Given the description of an element on the screen output the (x, y) to click on. 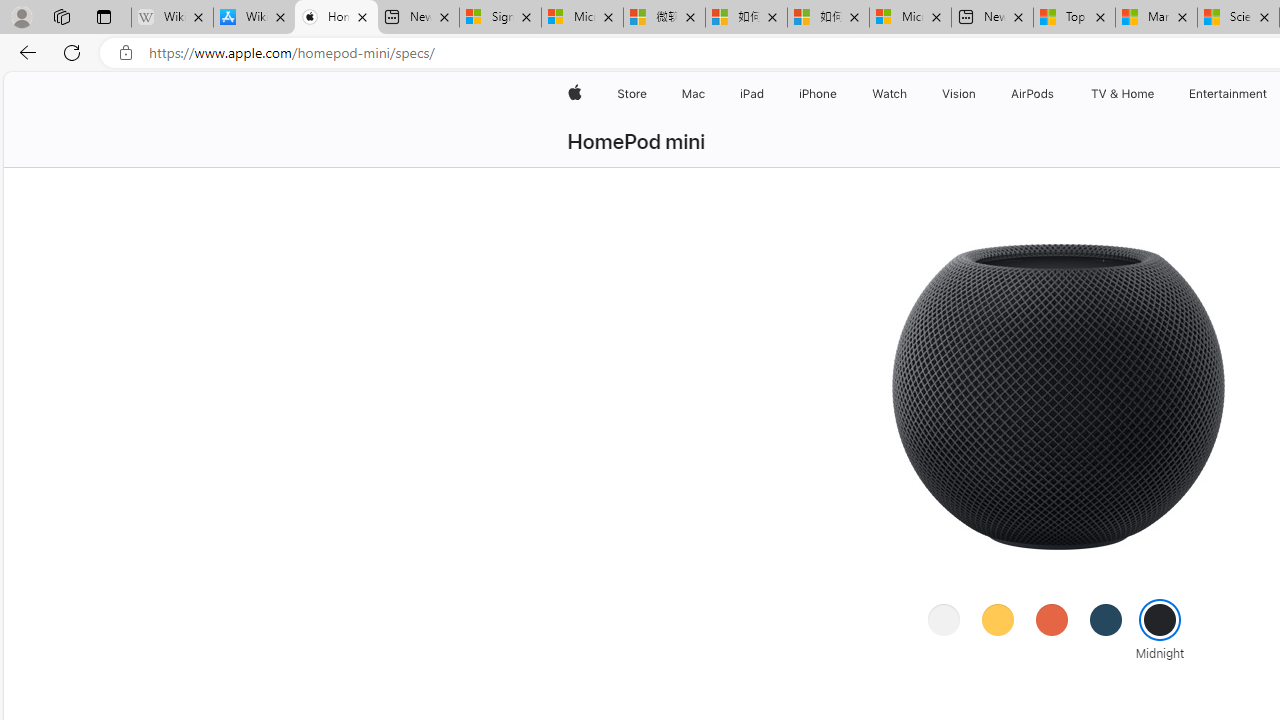
TV & Home (1122, 93)
Midnight HomePod mini (1056, 396)
Vision menu (980, 93)
Store (631, 93)
HomePod mini - Technical Specifications - Apple (336, 17)
TV and Home (1122, 93)
Mac (692, 93)
AirPods menu (1058, 93)
